Given the description of an element on the screen output the (x, y) to click on. 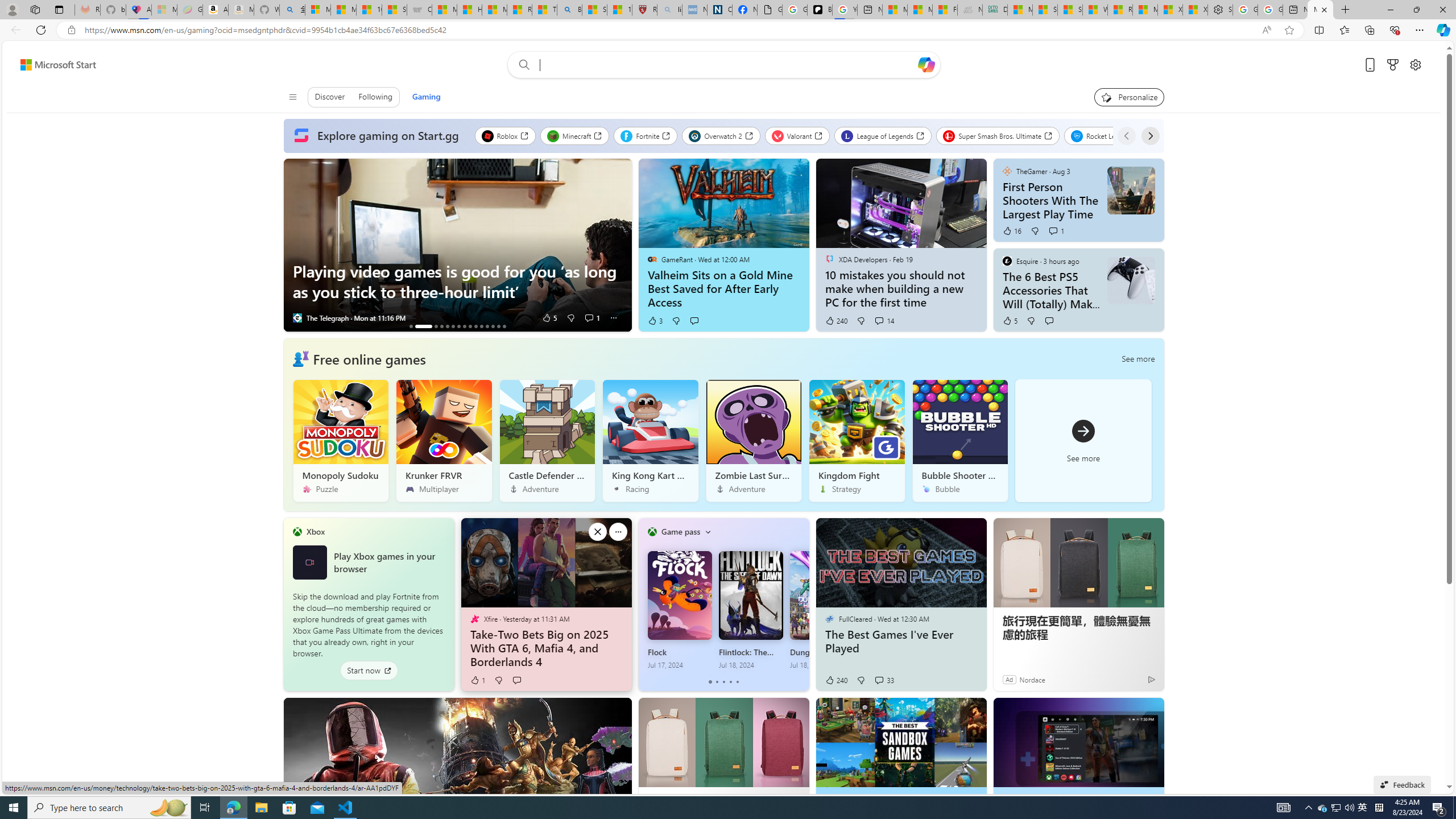
View comments 14 Comment (883, 320)
Dislike (860, 680)
Gaming (426, 96)
Microsoft account | Privacy (316, 9)
Start the conversation (516, 679)
King Kong Kart Racing (650, 440)
How I Got Rid of Microsoft Edge's Unnecessary Features (469, 9)
New tab (1295, 9)
Microsoft Start (1144, 9)
Flock Jul 17, 2024 (679, 610)
Stocks - MSN (1069, 9)
Free online games (369, 358)
FOX News - MSN (944, 9)
